Given the description of an element on the screen output the (x, y) to click on. 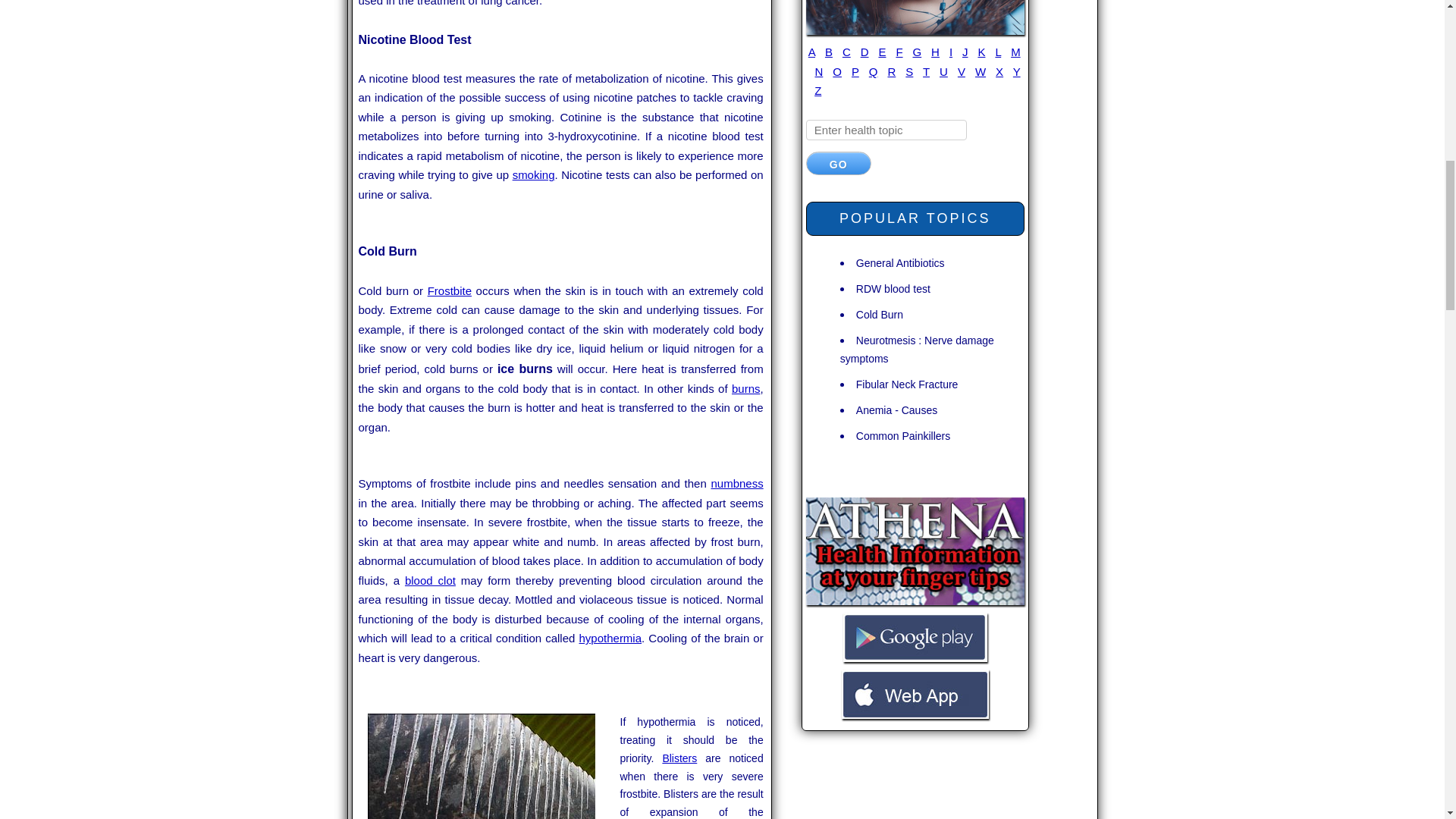
Blisters (679, 758)
smoking (533, 174)
burns (746, 388)
Frostbite (449, 290)
hypothermia (610, 637)
numbness (736, 482)
blood clot (429, 580)
Go (838, 163)
hypothermia (610, 637)
burns (746, 388)
Blisters (679, 758)
smoking (533, 174)
frostbite (449, 290)
numbness (736, 482)
blood clot (429, 580)
